Given the description of an element on the screen output the (x, y) to click on. 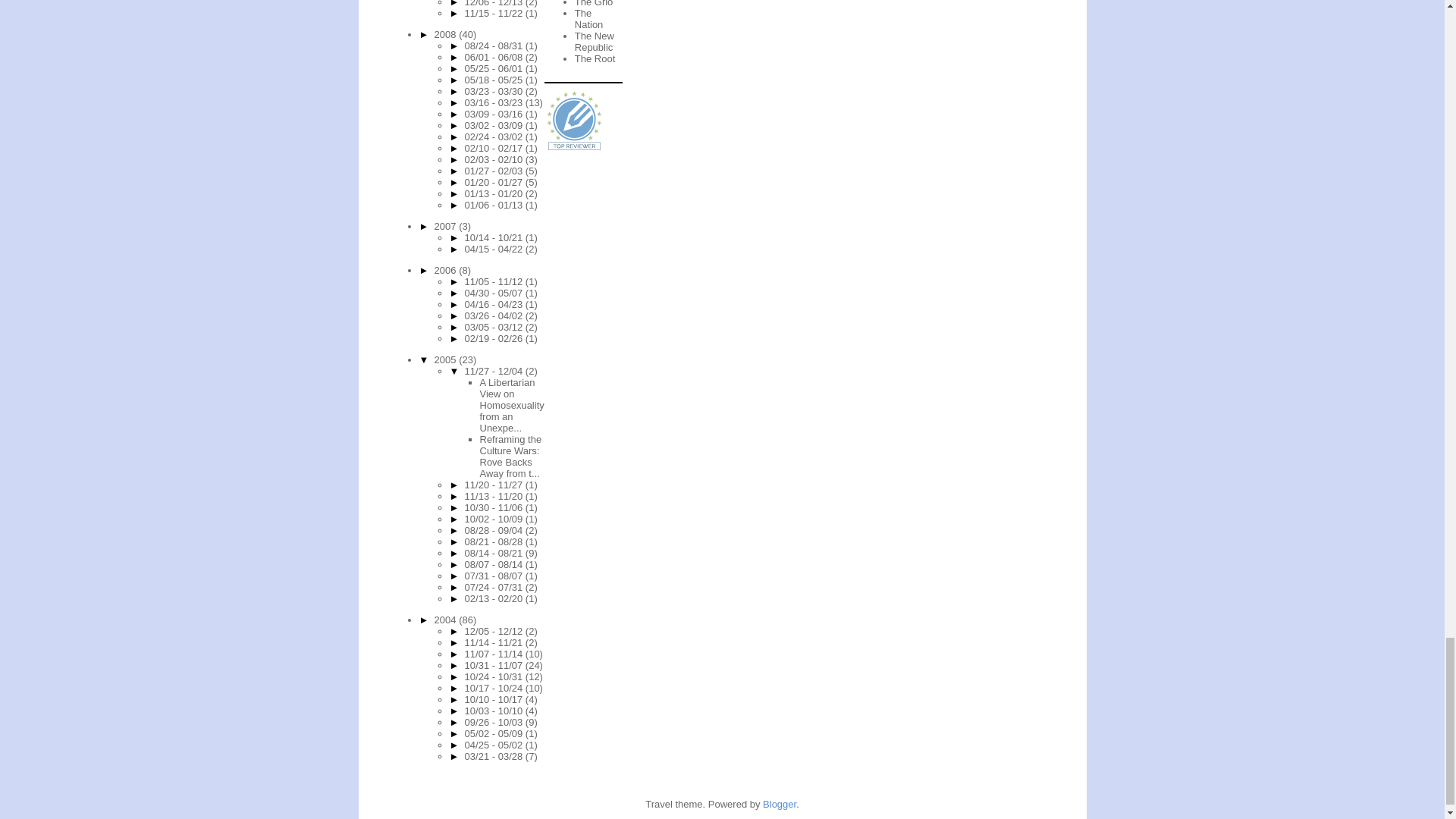
Reviews Published (574, 120)
